Given the description of an element on the screen output the (x, y) to click on. 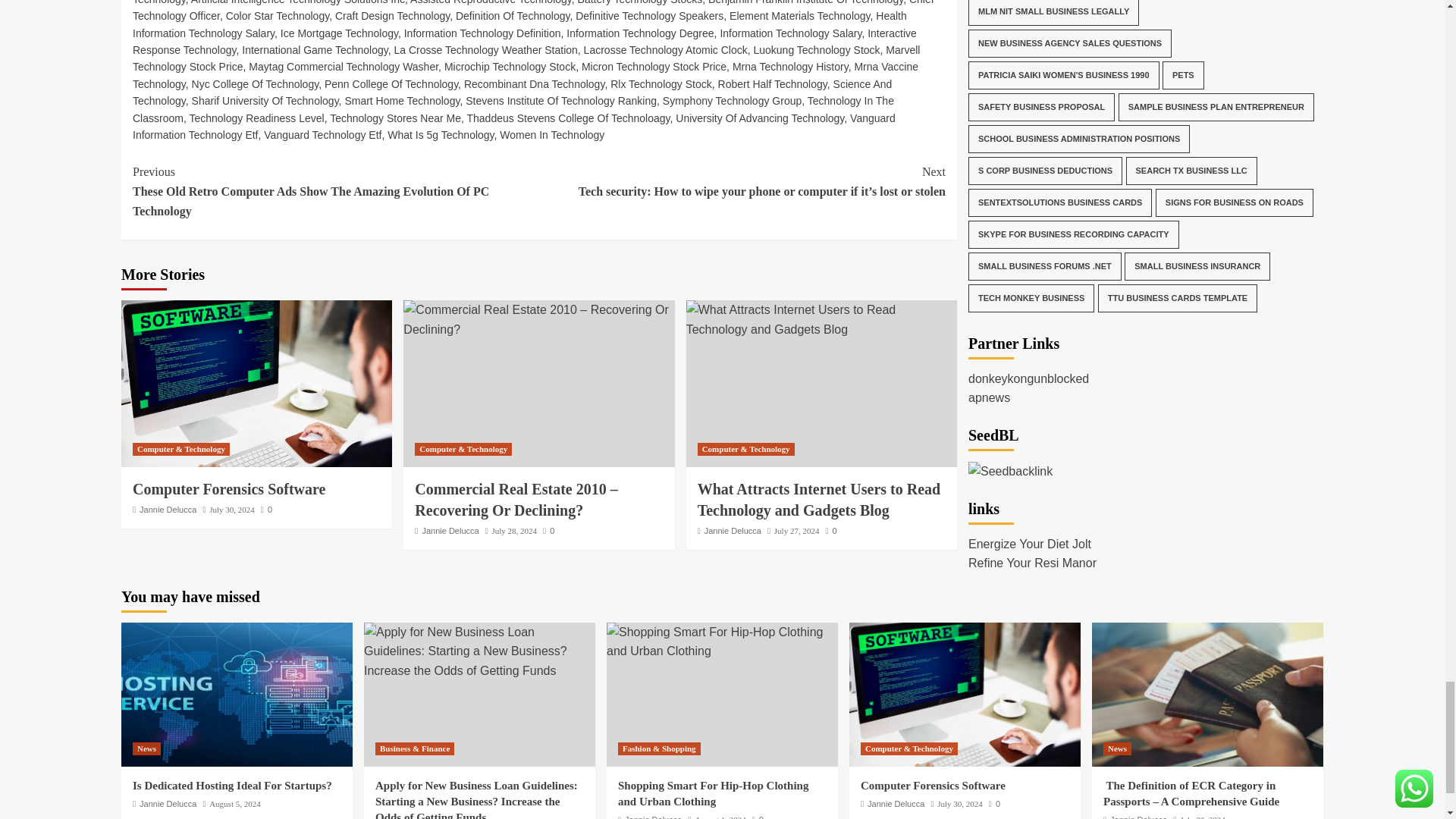
Computer Forensics Software (255, 383)
Artificial Intelligence Technology Solutions Inc (297, 2)
